Given the description of an element on the screen output the (x, y) to click on. 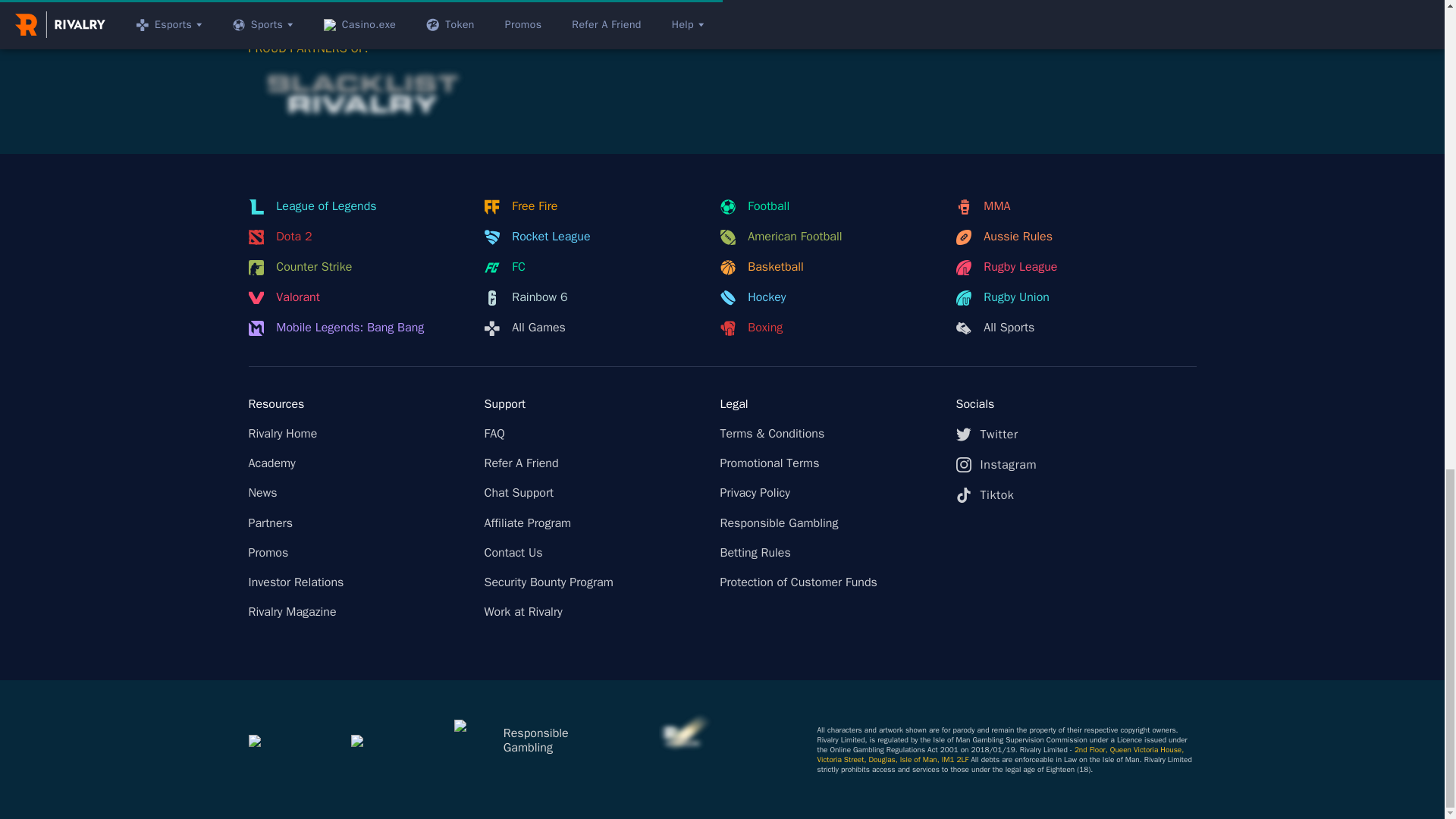
Hockey (828, 297)
Rocket League (592, 237)
MMA (1064, 206)
FC (592, 267)
Mobile Legends: Bang Bang (356, 328)
American Football (828, 237)
FIVB (930, 385)
League of Legends (356, 206)
Valorant (356, 297)
Football (828, 206)
Aussie Rules (1064, 237)
Basketball (828, 267)
Boxing (828, 328)
Rainbow 6 (592, 297)
Rugby League (1064, 267)
